Given the description of an element on the screen output the (x, y) to click on. 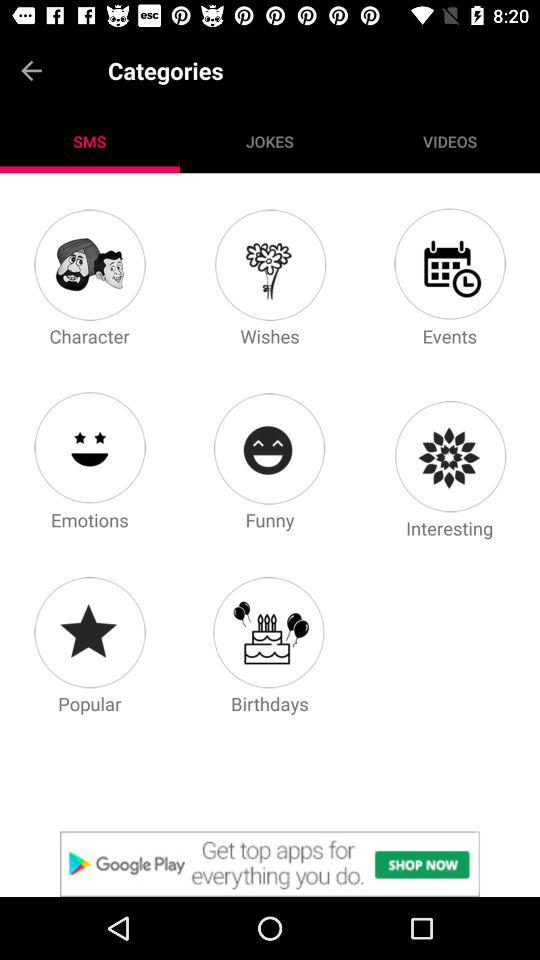
select category (89, 448)
